Given the description of an element on the screen output the (x, y) to click on. 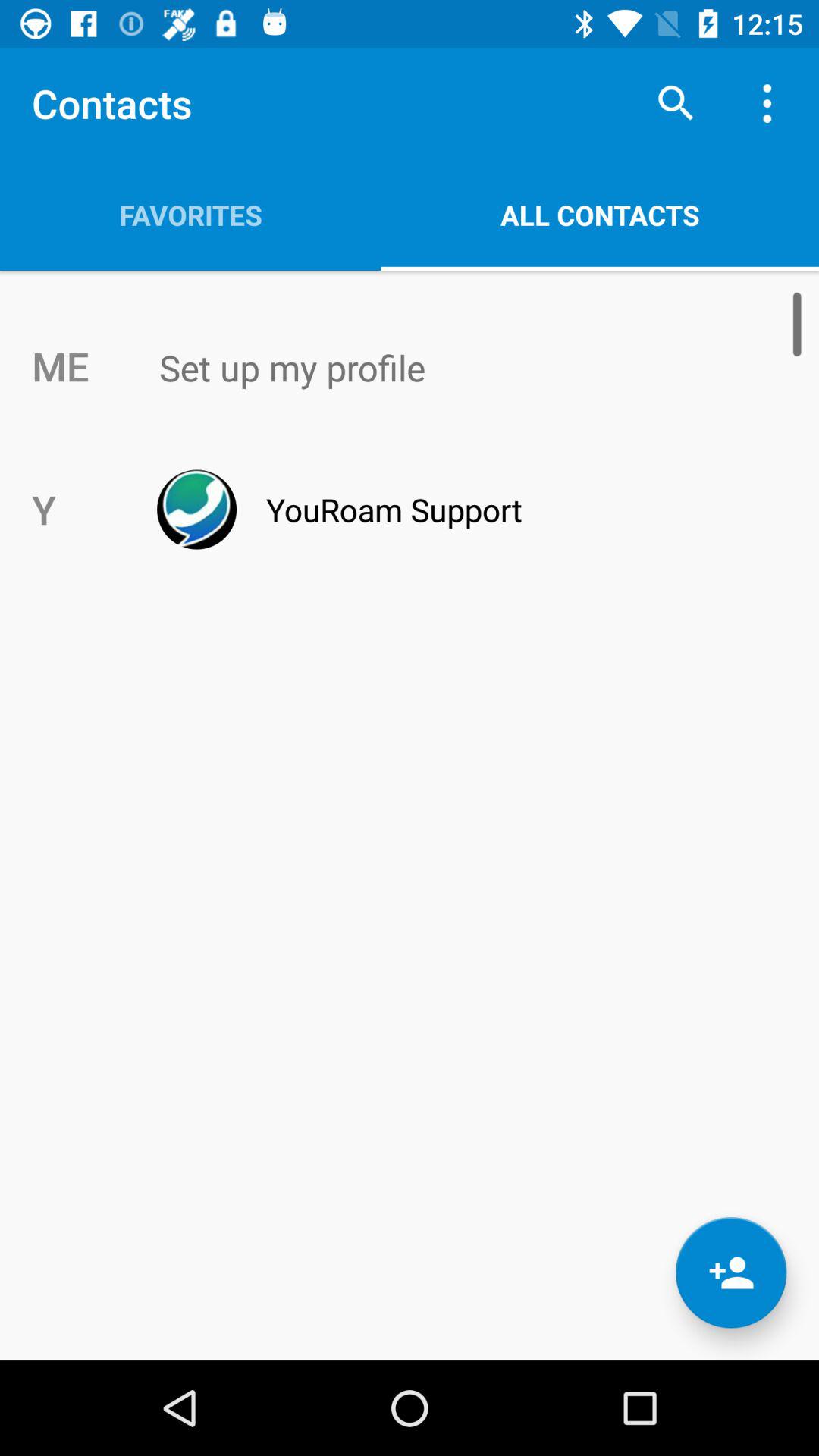
swipe until all contacts (600, 214)
